Given the description of an element on the screen output the (x, y) to click on. 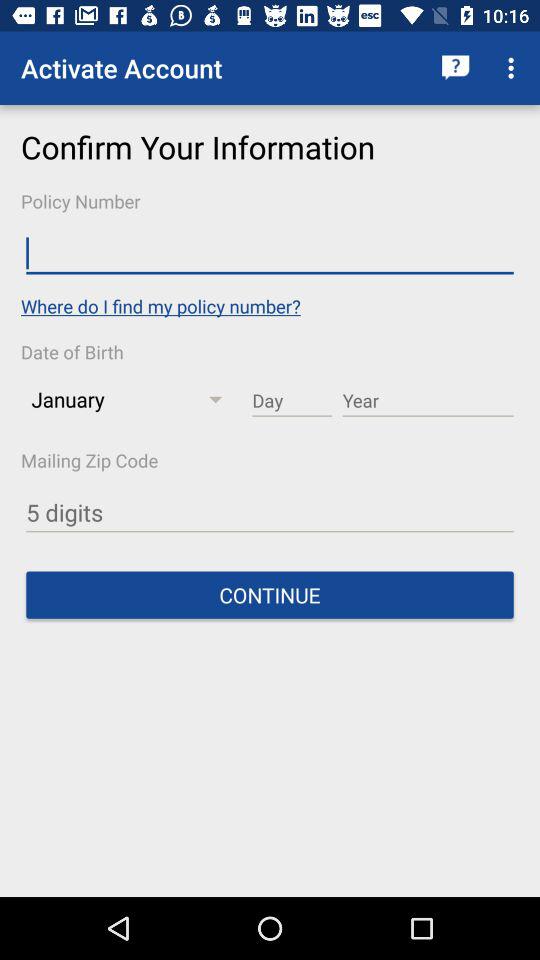
day field (292, 401)
